Given the description of an element on the screen output the (x, y) to click on. 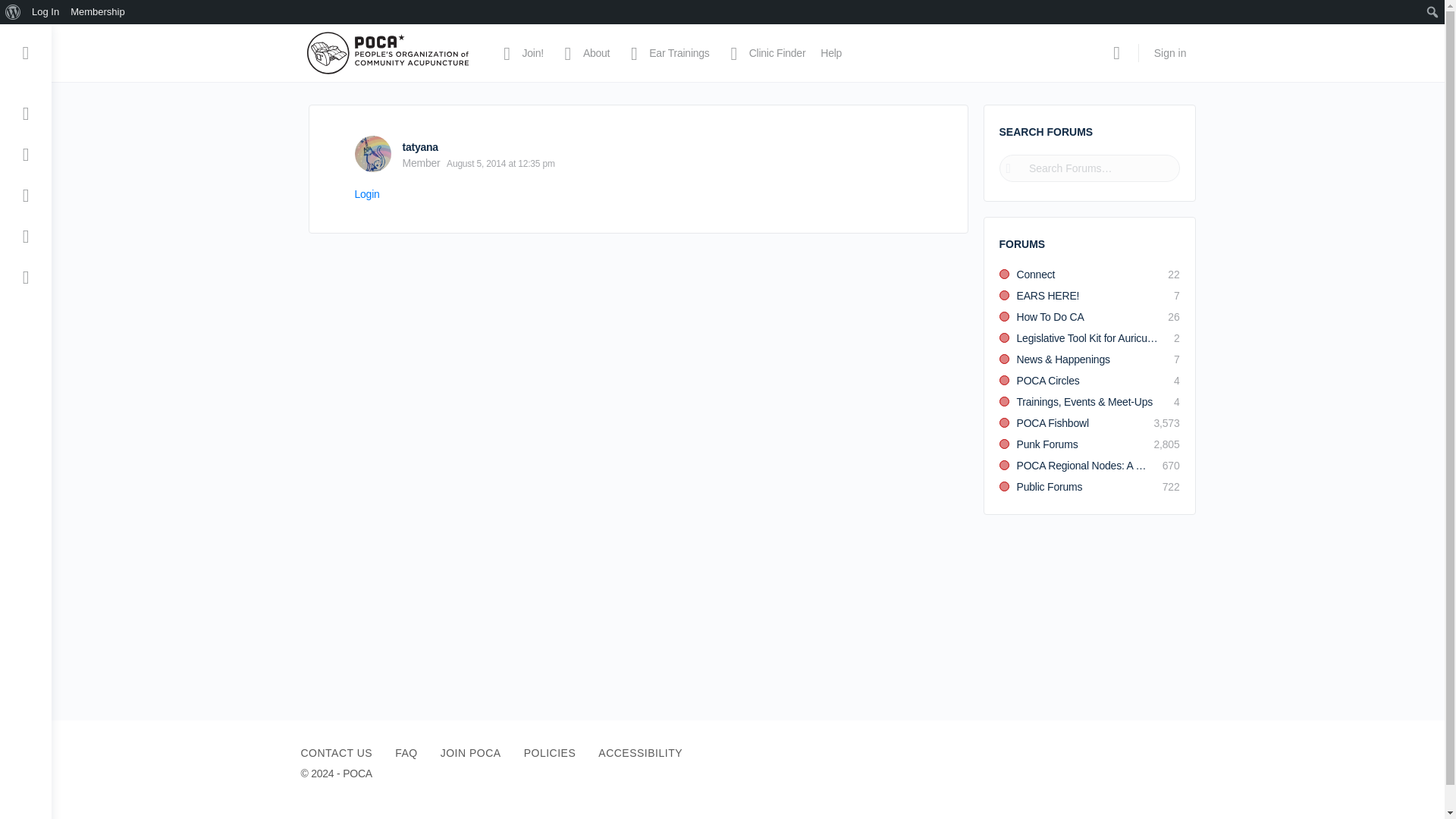
Log In (45, 12)
View tatyana's profile (373, 153)
Clinic Finder (765, 52)
Membership (98, 12)
View tatyana's profile (419, 146)
Search (16, 12)
Ear Trainings (666, 52)
Sign in (1169, 53)
